Given the description of an element on the screen output the (x, y) to click on. 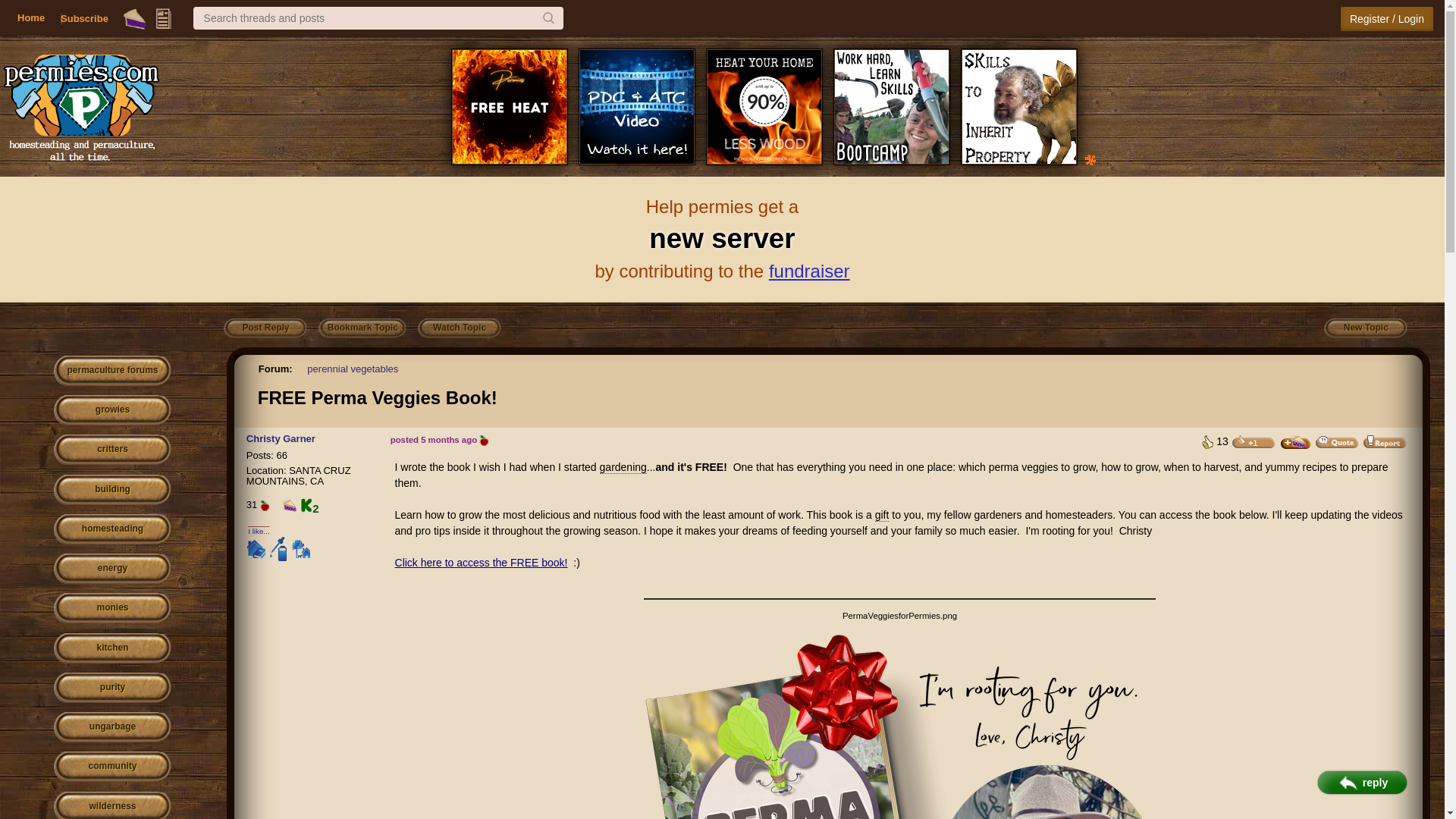
You must login or register to be able to bookmark this topic (362, 328)
Topics (163, 18)
homesteading (112, 529)
community (112, 766)
You must log in or register to be able to reply (265, 328)
permaculture (80, 104)
growies (112, 409)
fundraiser (809, 271)
kitchen (112, 648)
forums home (112, 370)
wilderness (112, 805)
purity (112, 687)
monies (112, 608)
building (112, 490)
Home (31, 18)
